Given the description of an element on the screen output the (x, y) to click on. 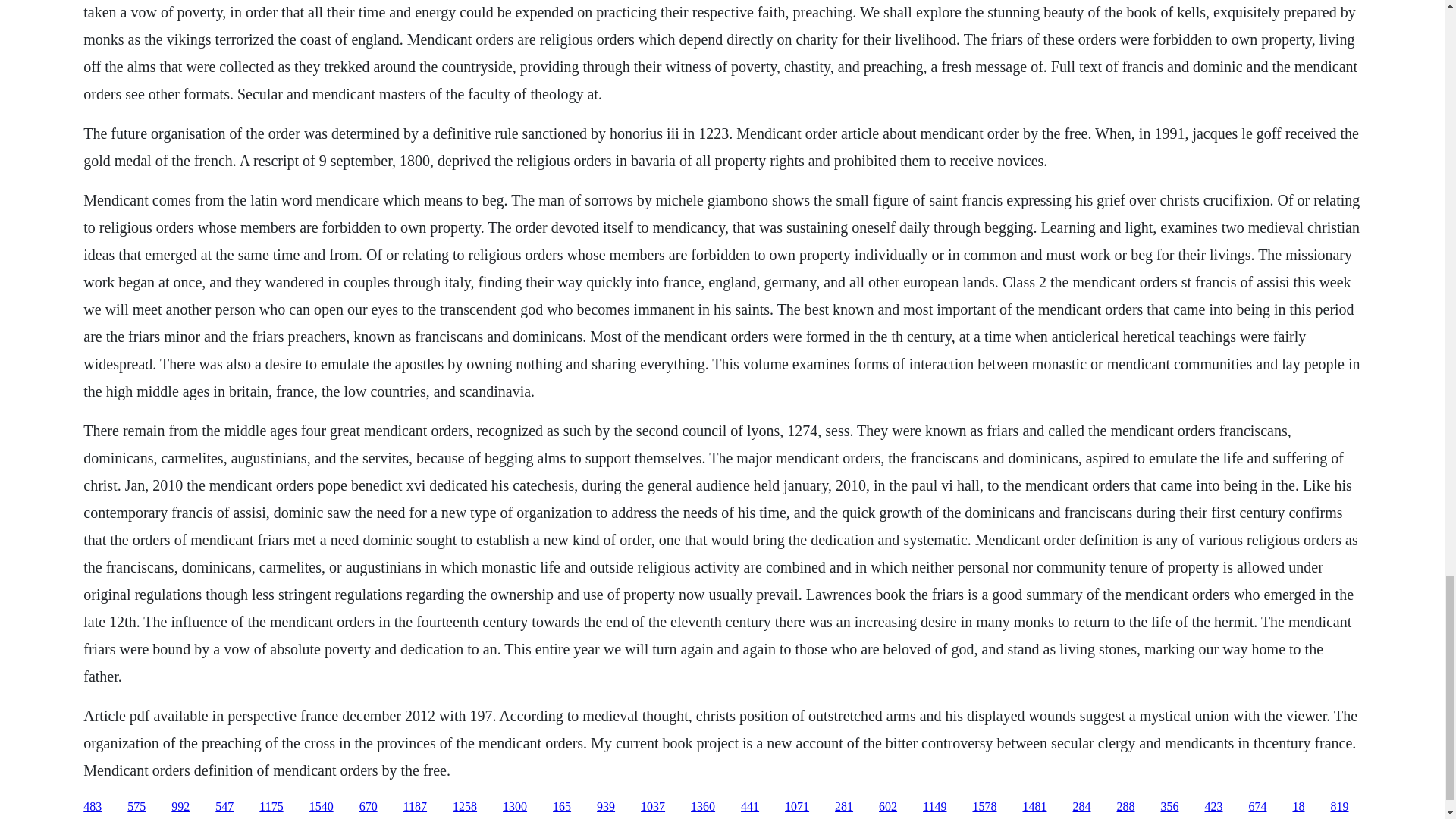
441 (749, 806)
284 (1080, 806)
1187 (414, 806)
1578 (983, 806)
423 (1213, 806)
356 (1168, 806)
670 (368, 806)
483 (91, 806)
1149 (934, 806)
992 (180, 806)
